Given the description of an element on the screen output the (x, y) to click on. 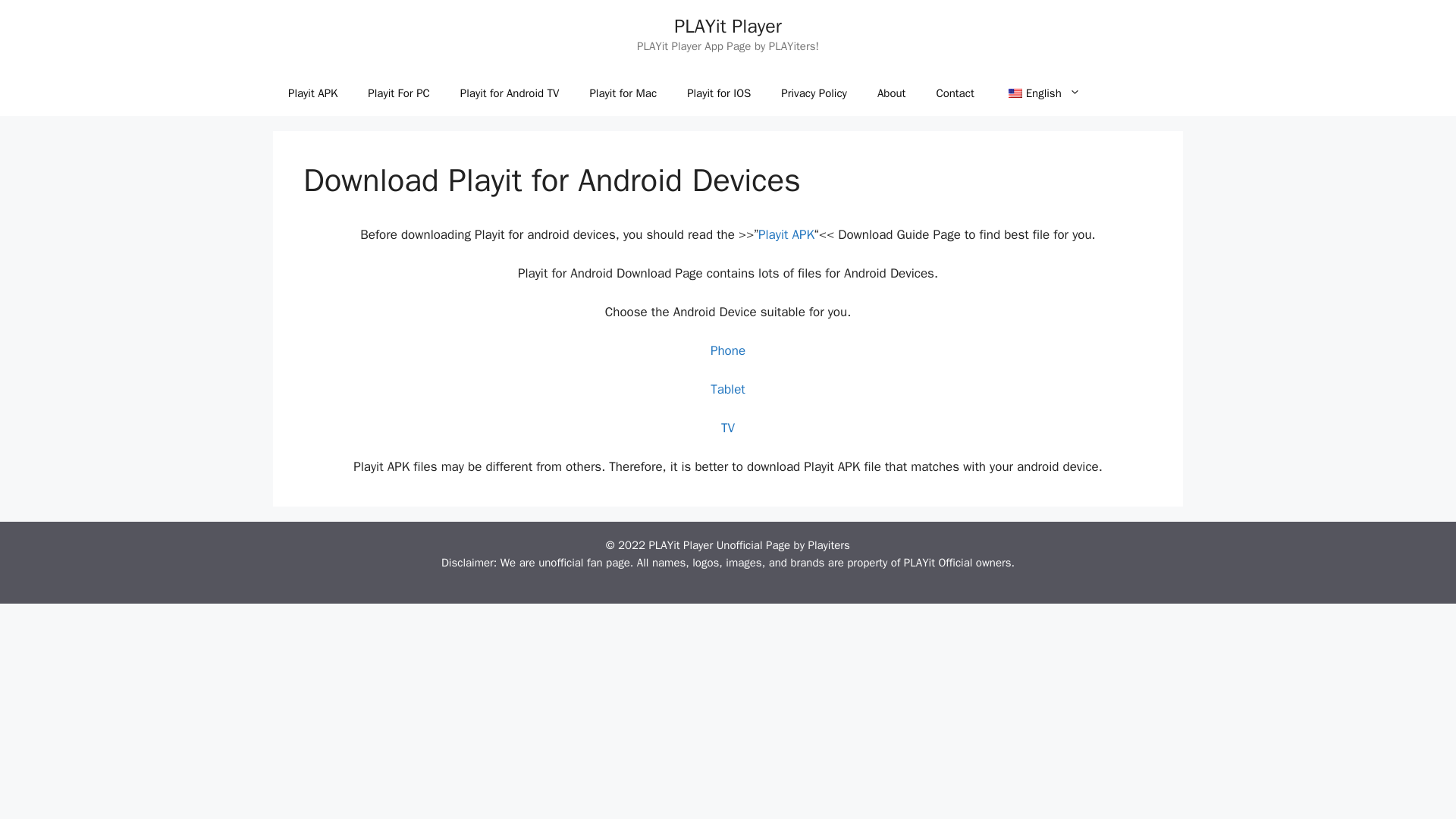
Playit for Mac (622, 92)
English (1043, 92)
Tablet (727, 389)
Playit for IOS (718, 92)
Playit APK (785, 234)
About (890, 92)
Playit for Android TV (510, 92)
Phone (727, 350)
English (1015, 92)
Contact (954, 92)
